Given the description of an element on the screen output the (x, y) to click on. 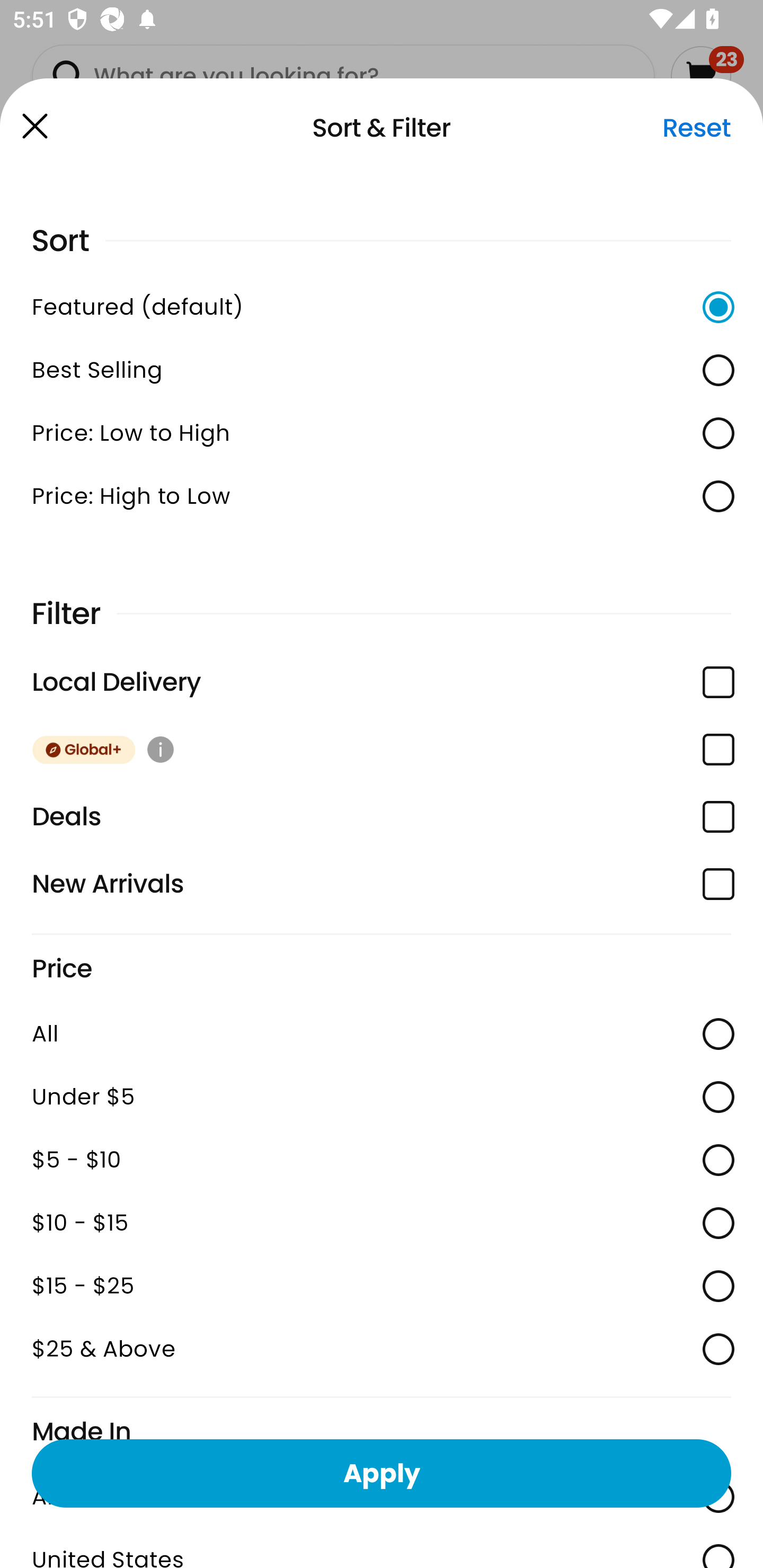
Reset (696, 127)
Apply (381, 1472)
